Given the description of an element on the screen output the (x, y) to click on. 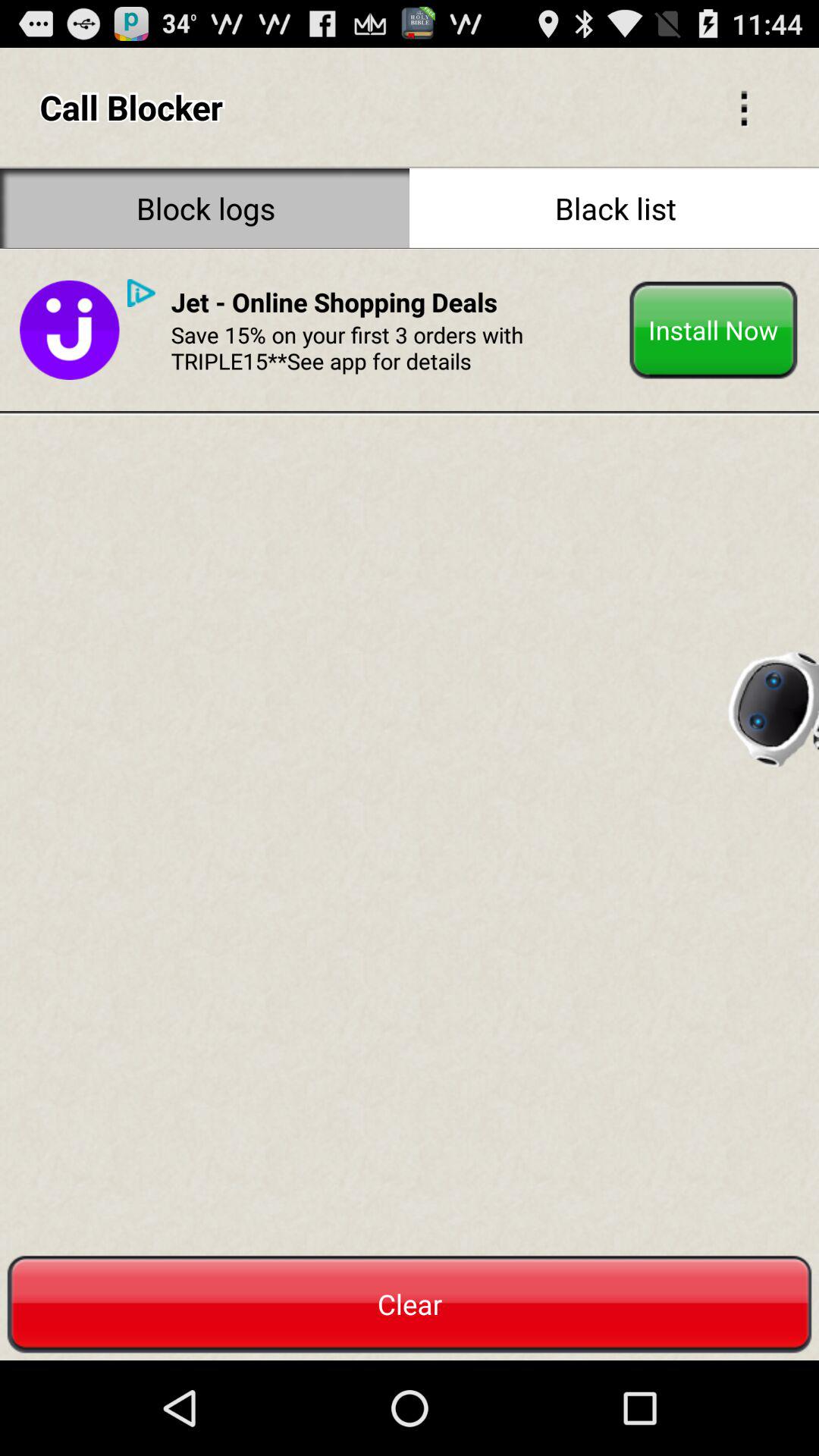
click on install now (713, 330)
click on the red color button (409, 1304)
click on more options icon (744, 106)
click the play button on the web page (141, 293)
click on the button call blocker (744, 106)
click the install now button on the web page (713, 330)
click on clear which is at bottom of the page (409, 1304)
